Given the description of an element on the screen output the (x, y) to click on. 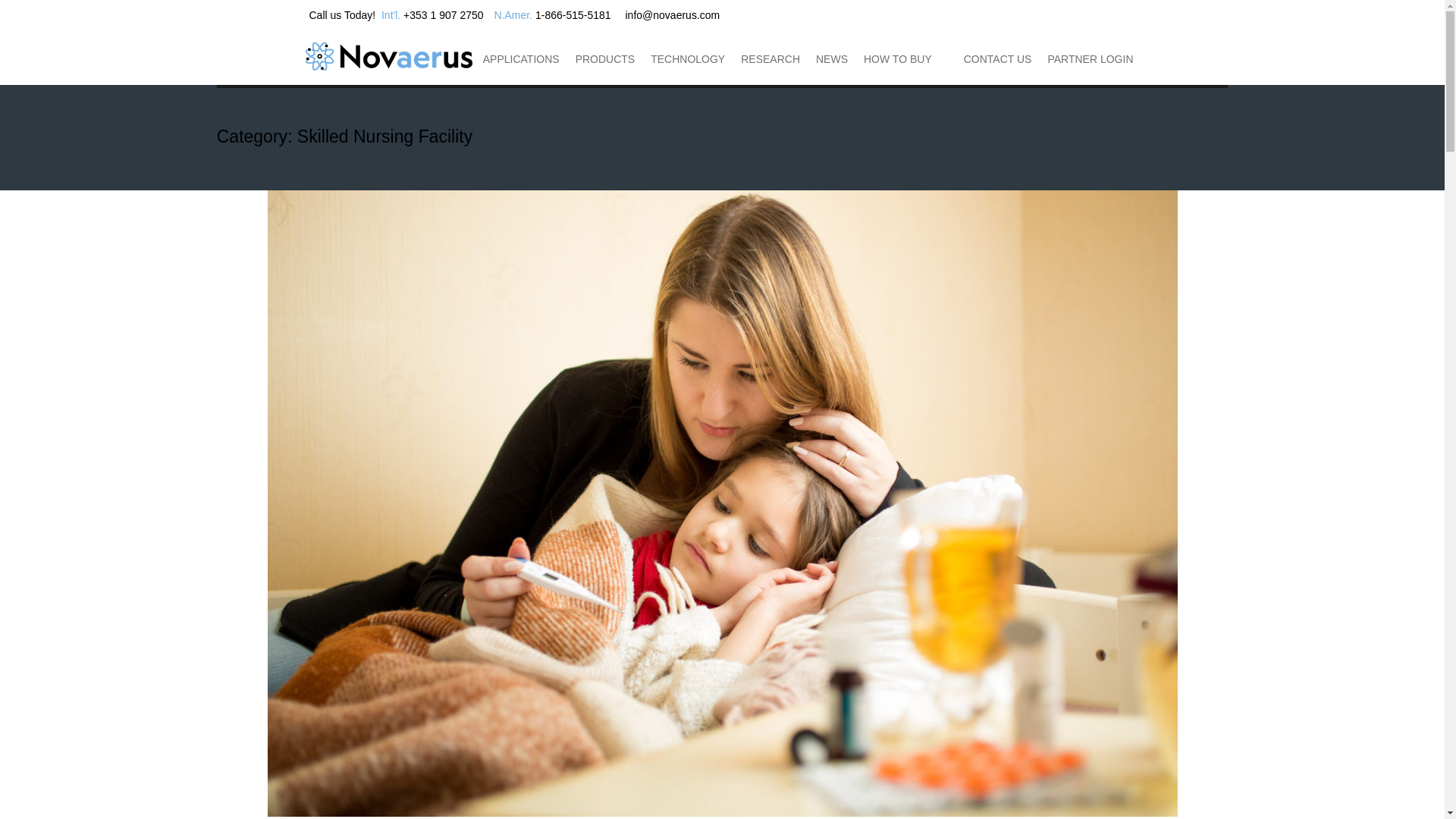
Novaerus (48, 44)
RESEARCH (770, 58)
NEWS (831, 58)
HOW TO BUY (897, 58)
TECHNOLOGY (687, 58)
PRODUCTS (605, 58)
1-866-515-5181 (573, 15)
PARTNER LOGIN (1089, 58)
CONTACT US (998, 58)
Novaerus - The Healthy Air Company (387, 56)
